Given the description of an element on the screen output the (x, y) to click on. 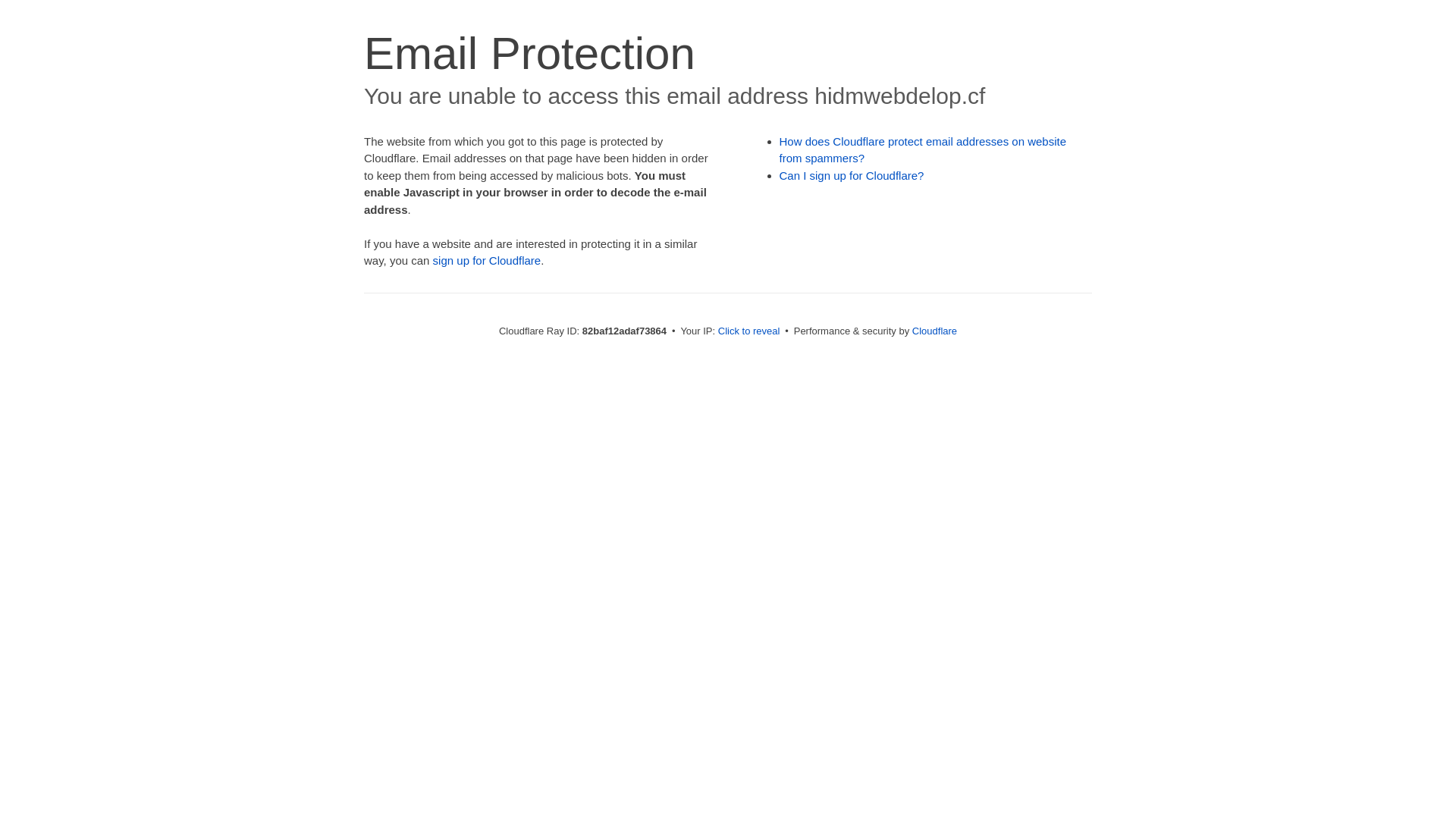
Cloudflare Element type: text (934, 330)
sign up for Cloudflare Element type: text (487, 260)
Can I sign up for Cloudflare? Element type: text (851, 175)
Click to reveal Element type: text (749, 330)
